Given the description of an element on the screen output the (x, y) to click on. 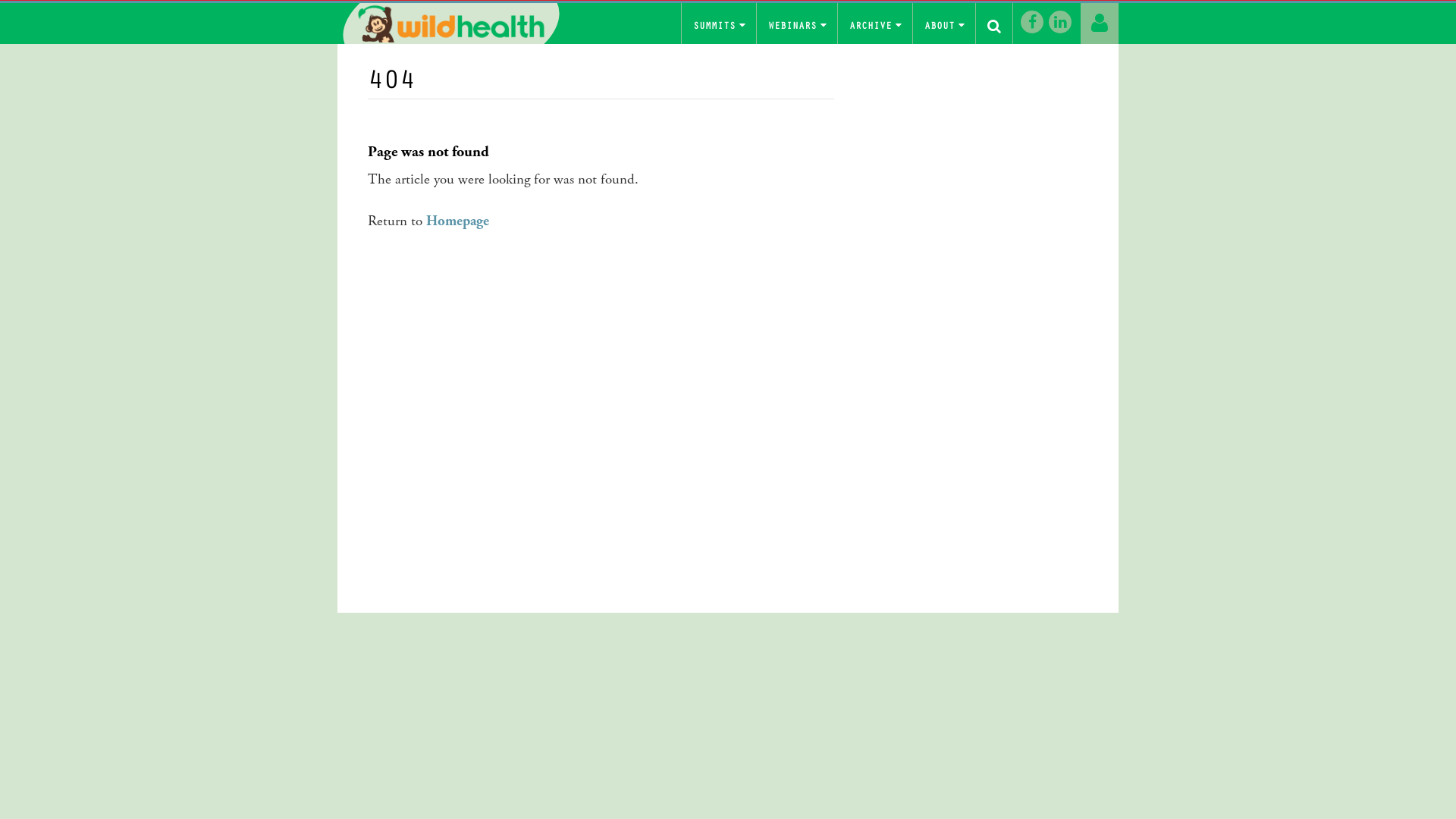
Homepage Element type: text (457, 220)
Like Us Element type: hover (1031, 21)
Wild Health Summits Element type: text (451, 23)
Login menu Element type: hover (1099, 23)
Search Element type: hover (994, 27)
ABOUT Element type: text (942, 25)
Connect with Us Element type: hover (1059, 21)
